Given the description of an element on the screen output the (x, y) to click on. 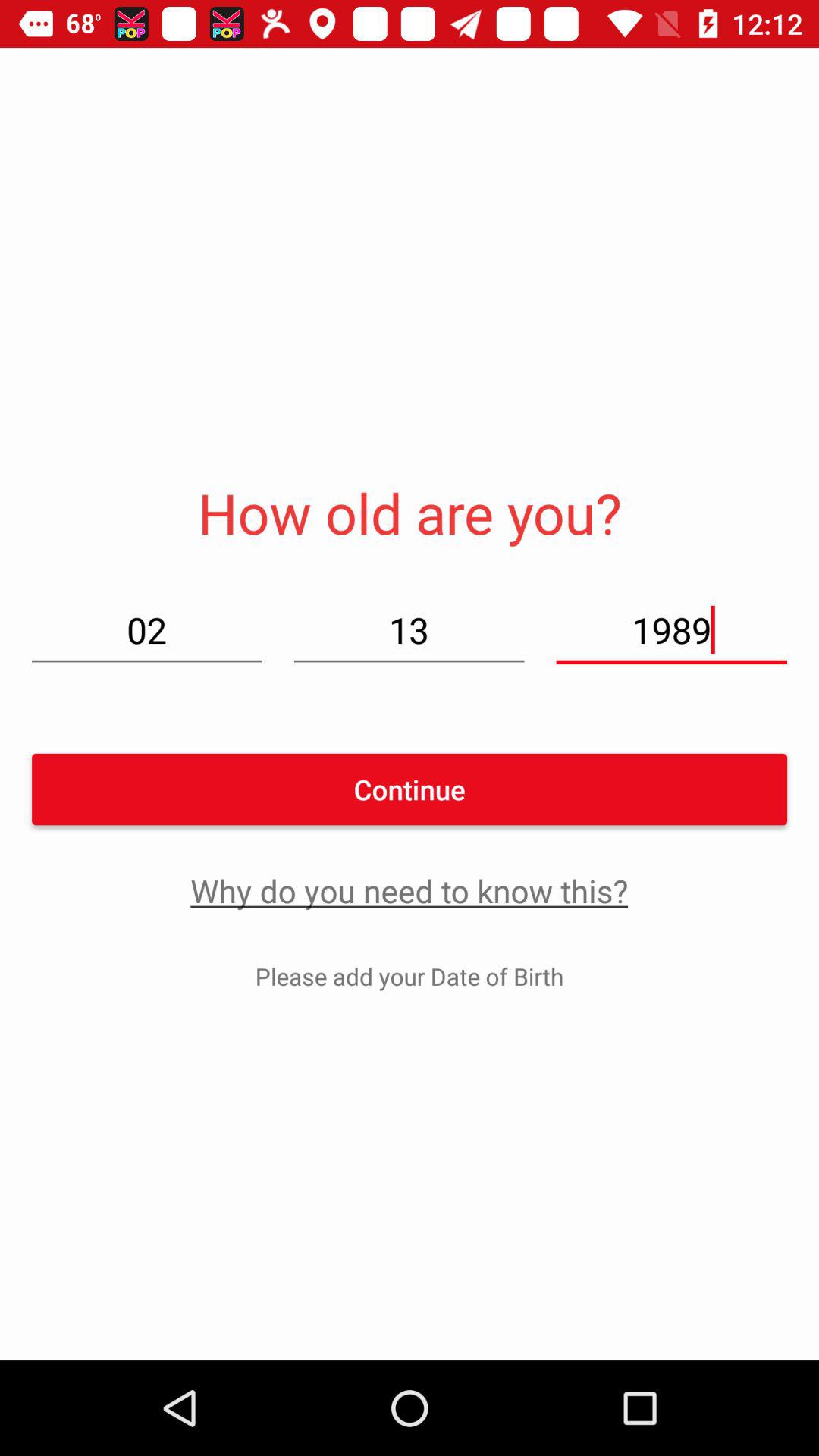
select the item next to 13 icon (671, 629)
